Given the description of an element on the screen output the (x, y) to click on. 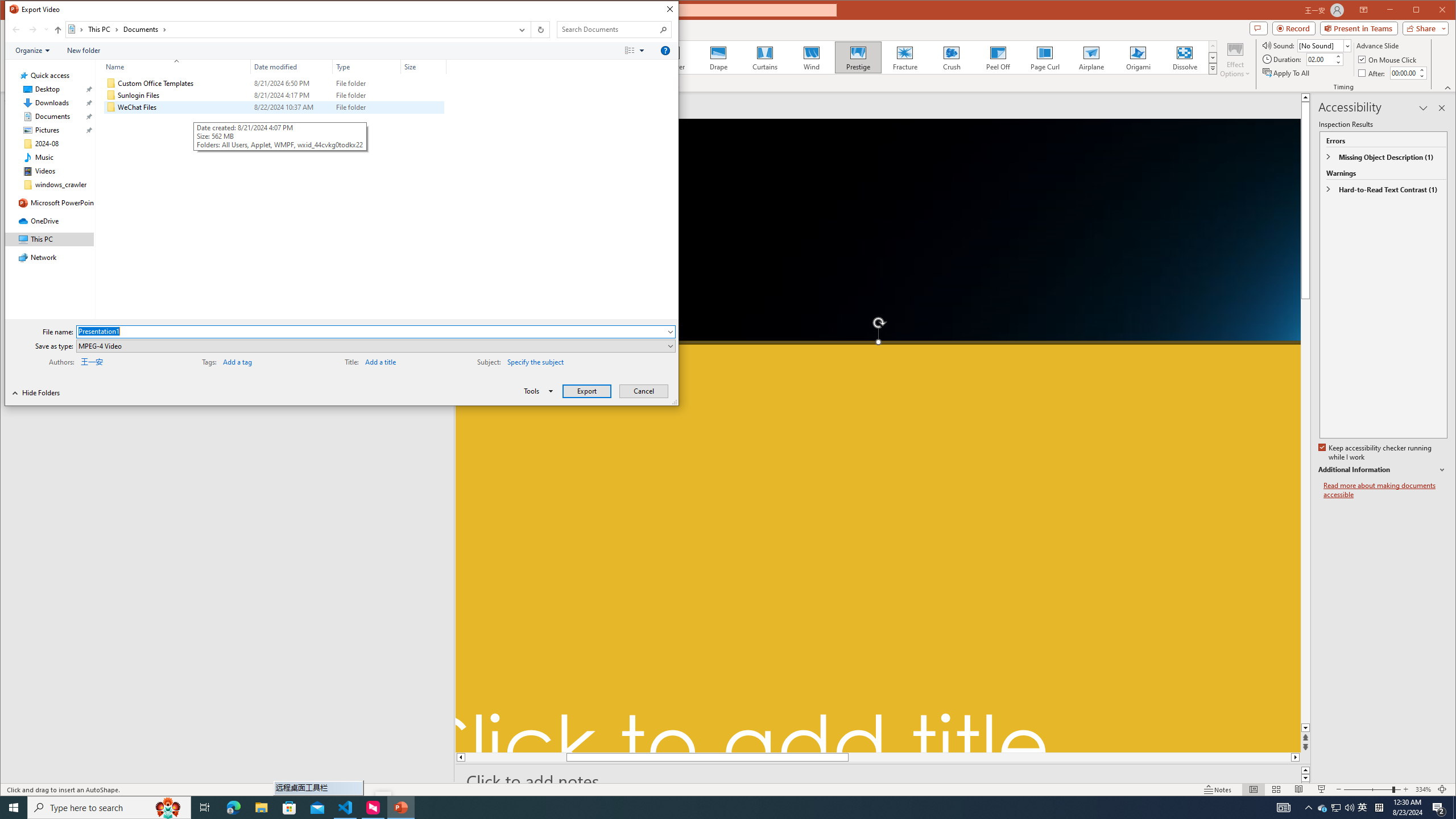
Previous Locations (520, 29)
Forward (Alt + Right Arrow) (33, 29)
View Slider (642, 50)
Save as type: (375, 345)
Up to "This PC" (Alt + Up Arrow) (57, 29)
Wind (810, 57)
Page Curl (1045, 57)
